Given the description of an element on the screen output the (x, y) to click on. 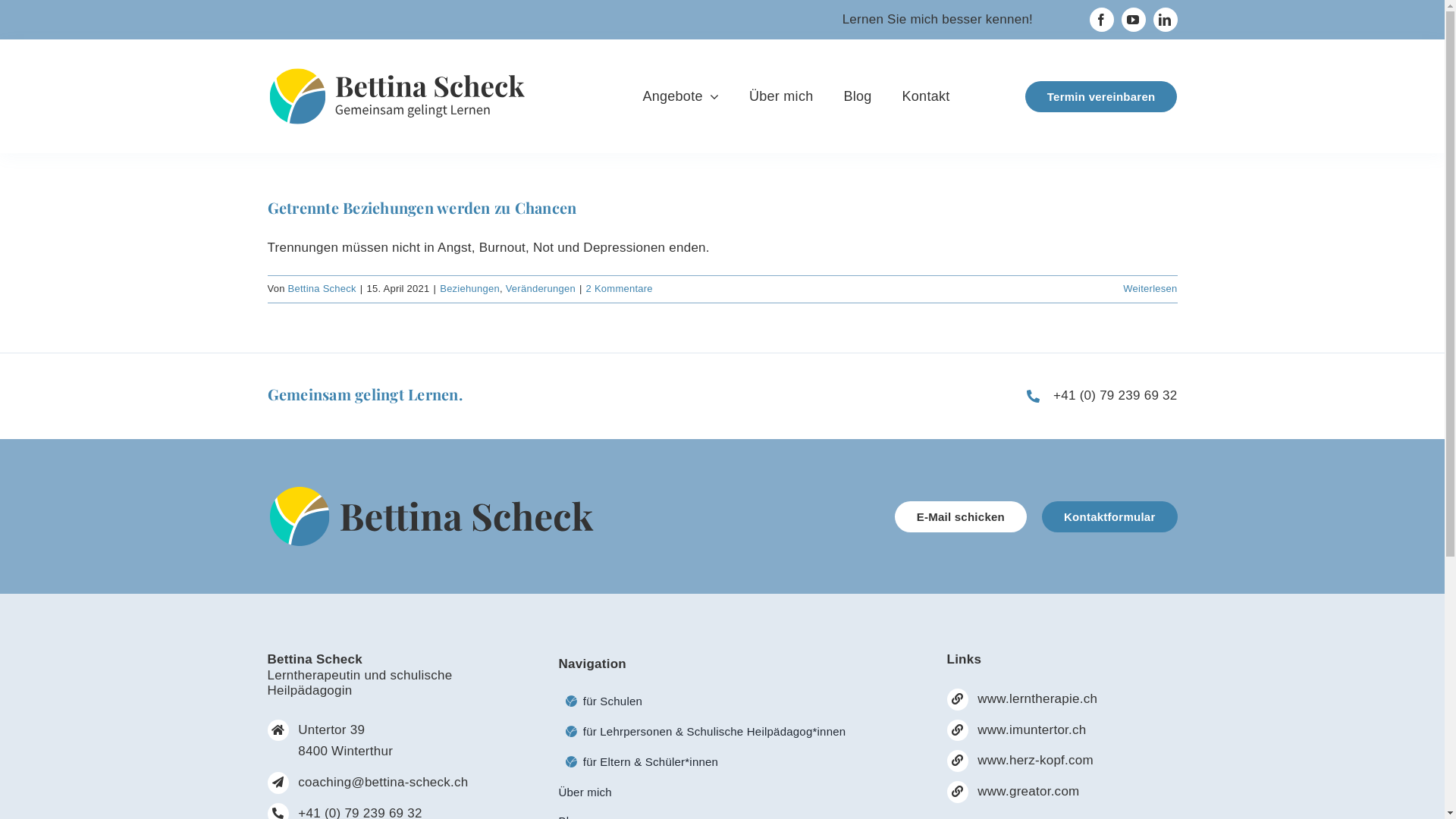
Blog Element type: text (857, 96)
Kontakt Element type: text (926, 96)
2 Kommentare Element type: text (619, 288)
www.greator.com Element type: text (1028, 791)
Angebote Element type: text (680, 96)
coaching@bettina-scheck.ch Element type: text (382, 782)
Bettina Scheck Element type: text (322, 288)
E-Mail schicken Element type: text (960, 516)
Beziehungen Element type: text (469, 288)
Weiterlesen Element type: text (1149, 288)
+41 (0) 79 239 69 32 Element type: text (1114, 395)
Termin vereinbaren Element type: text (1101, 95)
www.herz-kopf.com Element type: text (1035, 760)
Getrennte Beziehungen werden zu Chancen Element type: text (421, 207)
www.imuntertor.ch Element type: text (1031, 729)
Kontaktformular Element type: text (1109, 516)
www.lerntherapie.ch Element type: text (1037, 698)
